Given the description of an element on the screen output the (x, y) to click on. 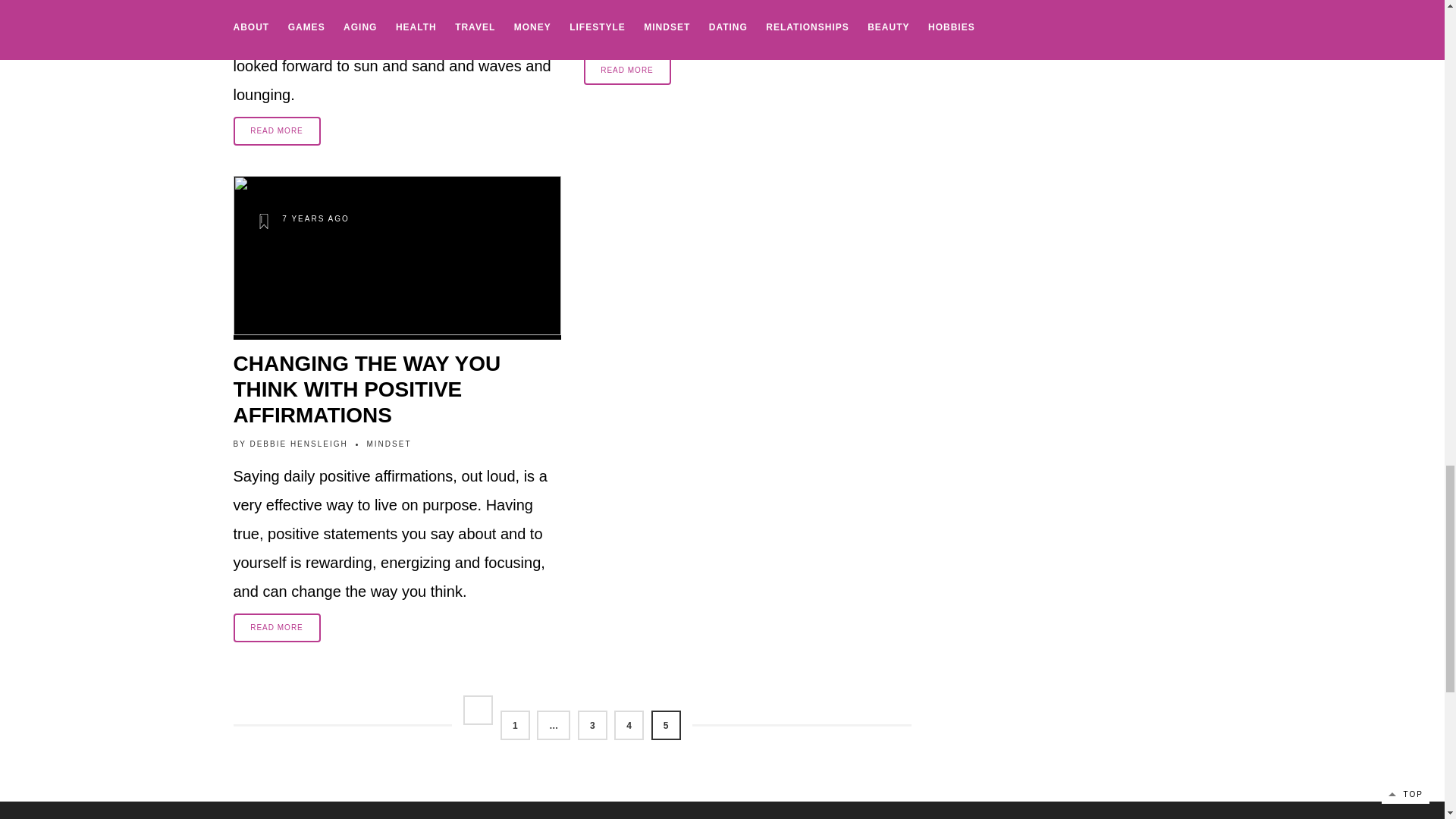
Changing the Way You Think with Positive Affirmations (396, 389)
